Given the description of an element on the screen output the (x, y) to click on. 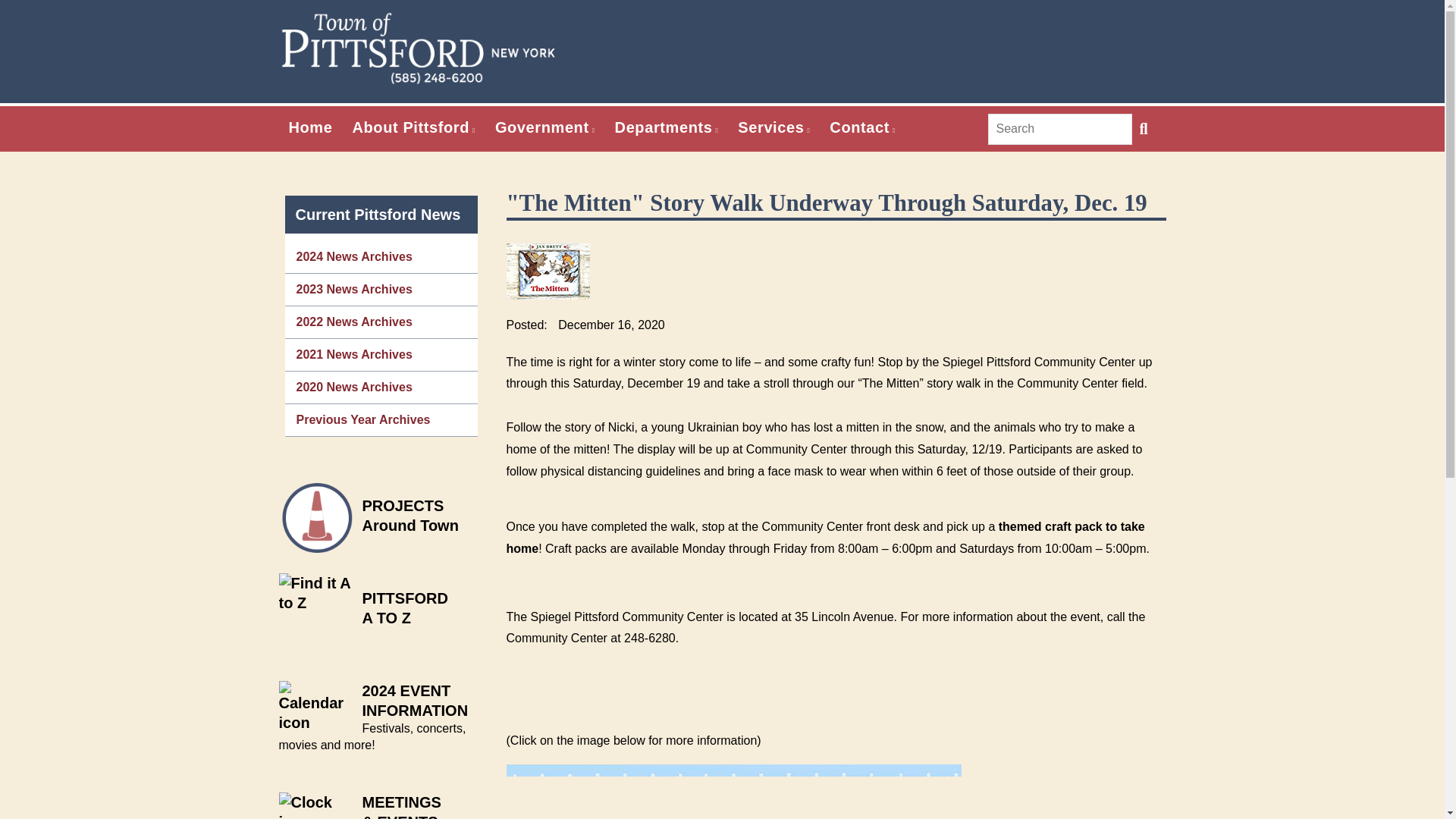
Home (419, 47)
Home (310, 127)
Government (544, 127)
About Pittsford (413, 127)
